Given the description of an element on the screen output the (x, y) to click on. 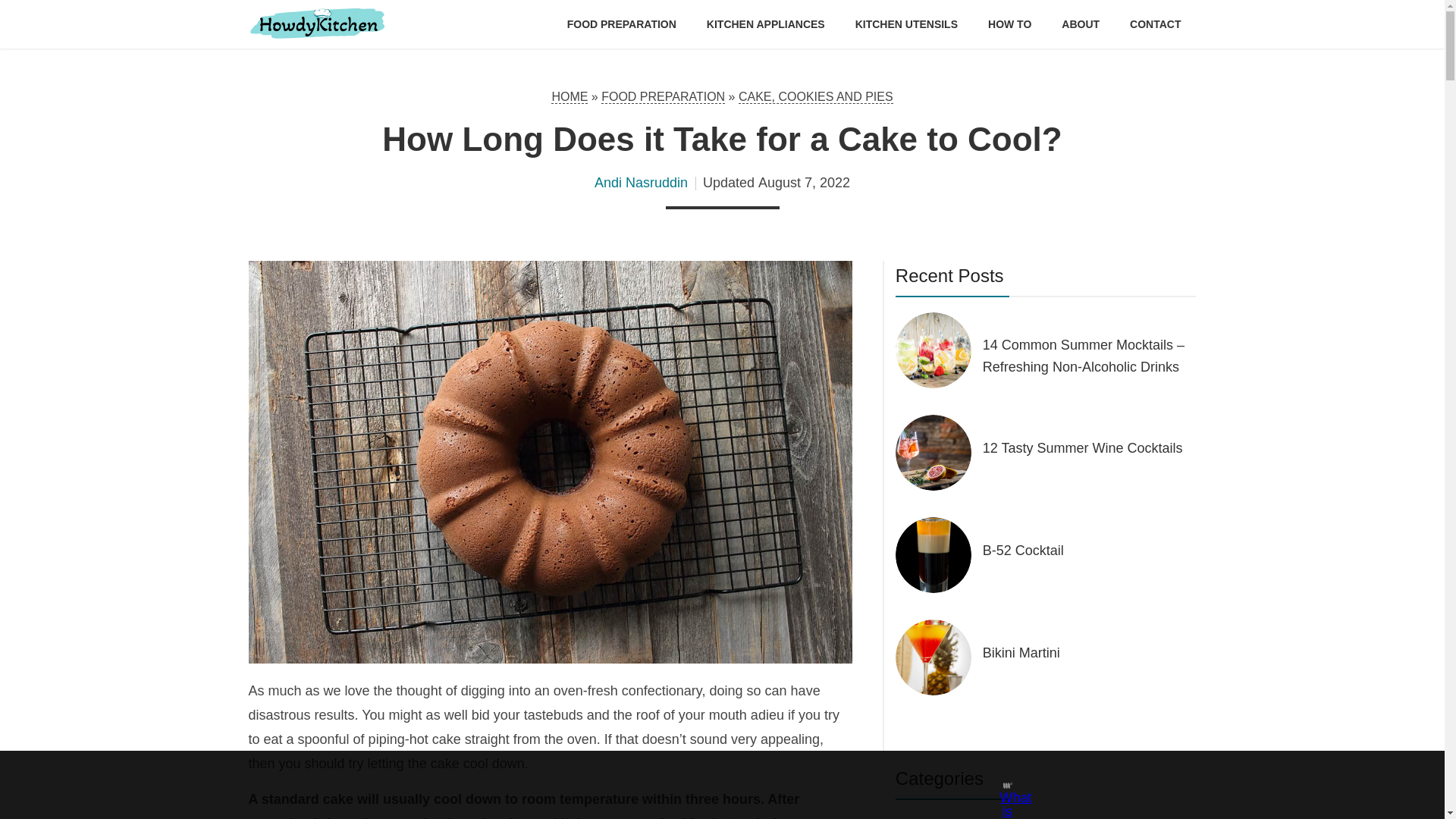
FOOD PREPARATION (663, 97)
ABOUT (1080, 23)
HOME (569, 97)
KITCHEN UTENSILS (907, 23)
Andi Nasruddin (640, 182)
3rd party ad content (708, 785)
CAKE, COOKIES AND PIES (815, 97)
FOOD PREPARATION (622, 23)
KITCHEN APPLIANCES (765, 23)
CONTACT (1154, 23)
HOW TO (1009, 23)
